Given the description of an element on the screen output the (x, y) to click on. 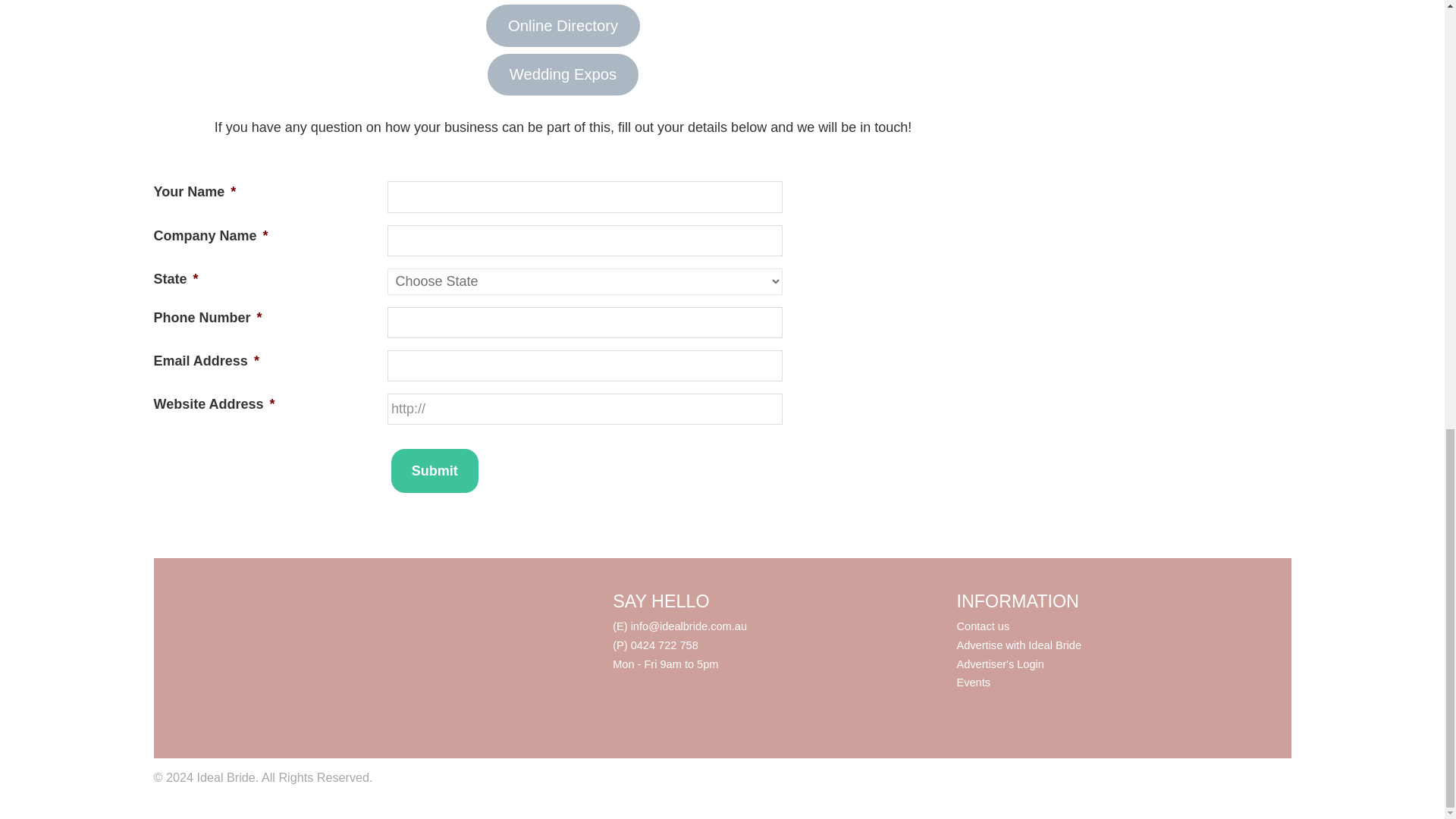
Submit (435, 470)
